Given the description of an element on the screen output the (x, y) to click on. 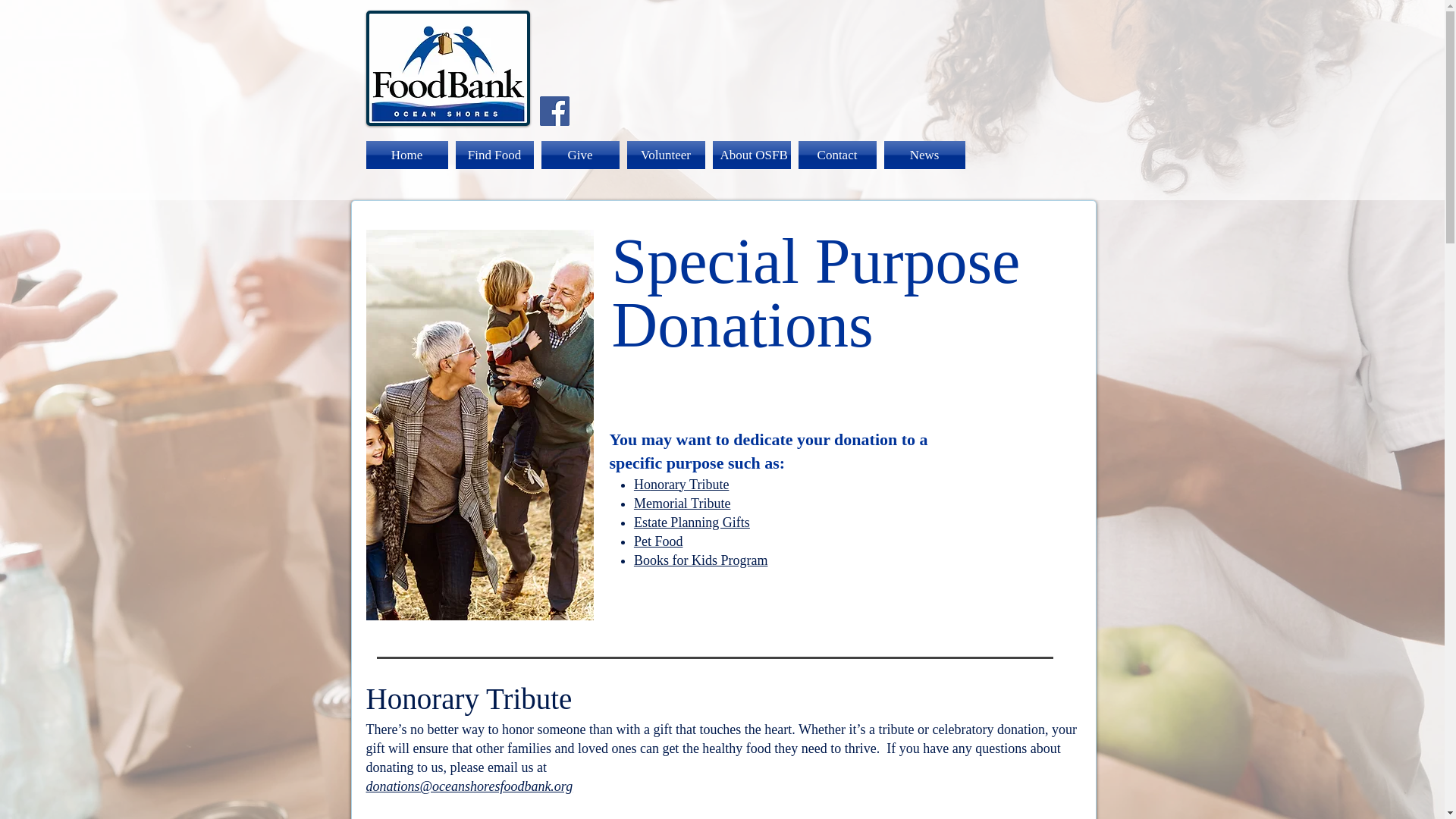
Honorary Tribute (681, 484)
Home (408, 154)
Contact (837, 154)
Volunteer (666, 154)
Find Food (494, 154)
Books for Kids Program (700, 560)
Estate Planning Gifts (691, 522)
Pet Food (657, 540)
Memorial Tribute (681, 503)
News (921, 154)
